Given the description of an element on the screen output the (x, y) to click on. 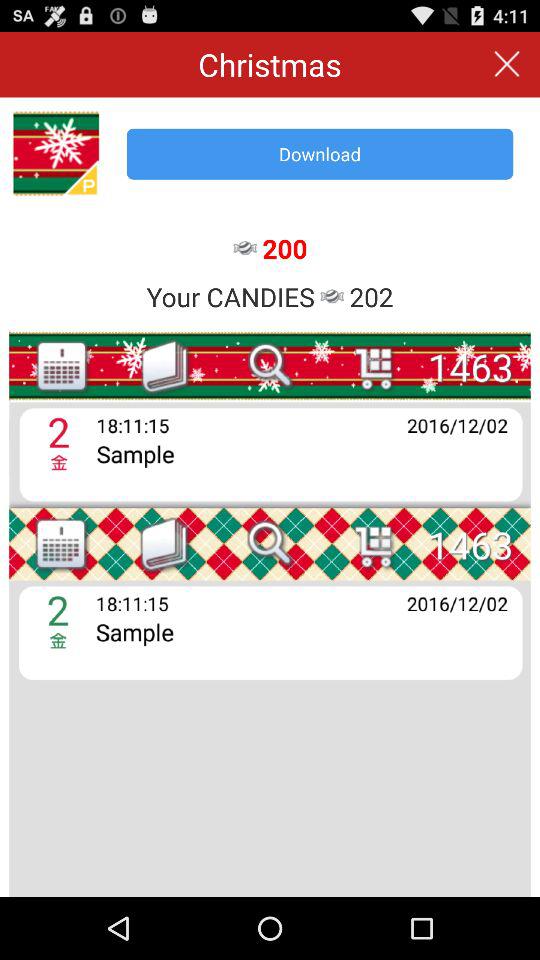
turn off item to the right of the christmas item (506, 64)
